Given the description of an element on the screen output the (x, y) to click on. 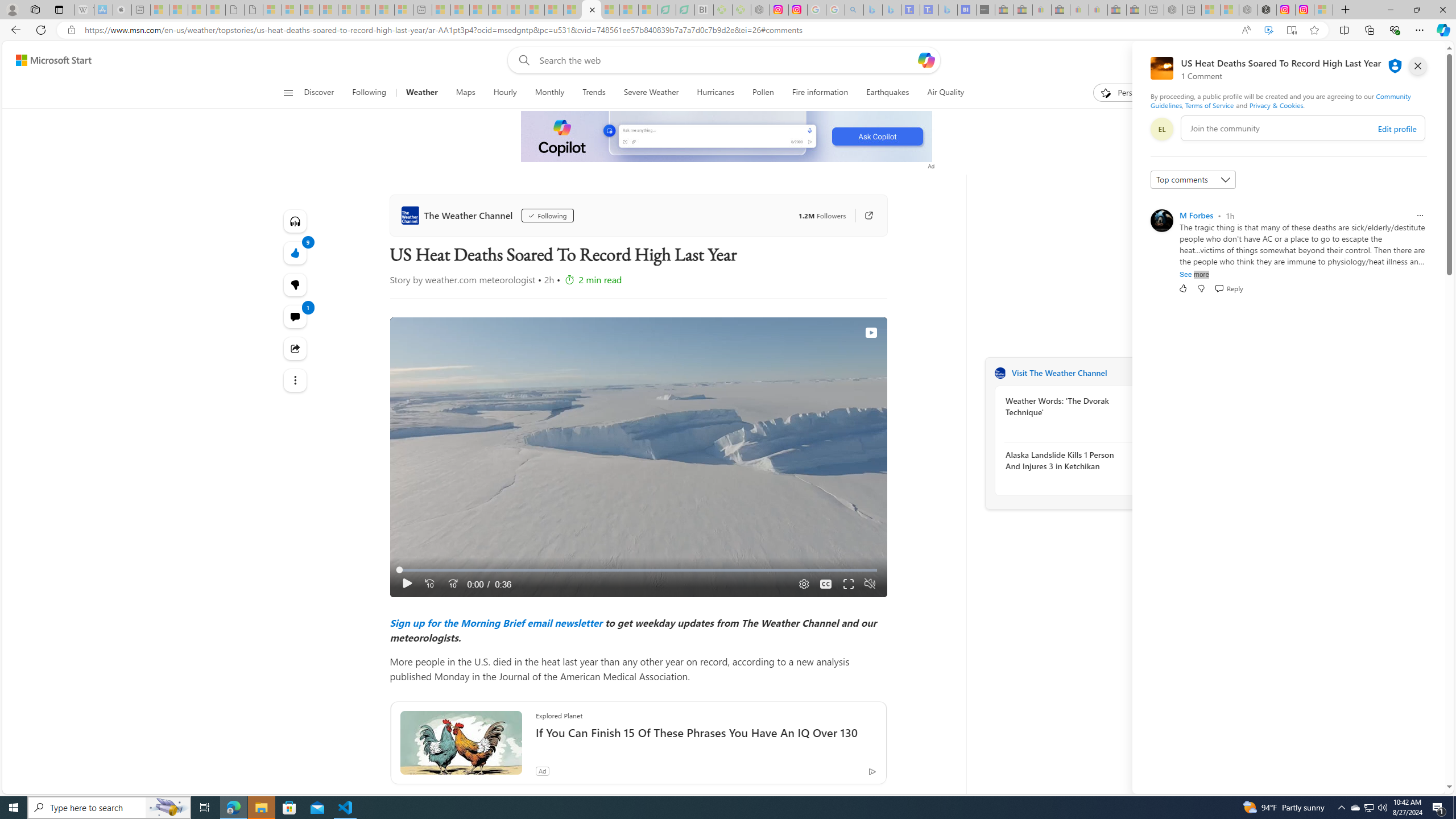
Skip to footer (46, 59)
The Weather Channel (458, 215)
Hourly (504, 92)
Skip to content (49, 59)
Quality Settings (801, 583)
Enter Immersive Reader (F9) (1291, 29)
Descarga Driver Updater - Sleeping (741, 9)
Trends (593, 92)
Severe Weather (651, 92)
Top Stories - MSN - Sleeping (440, 9)
comment-box (1302, 127)
